Given the description of an element on the screen output the (x, y) to click on. 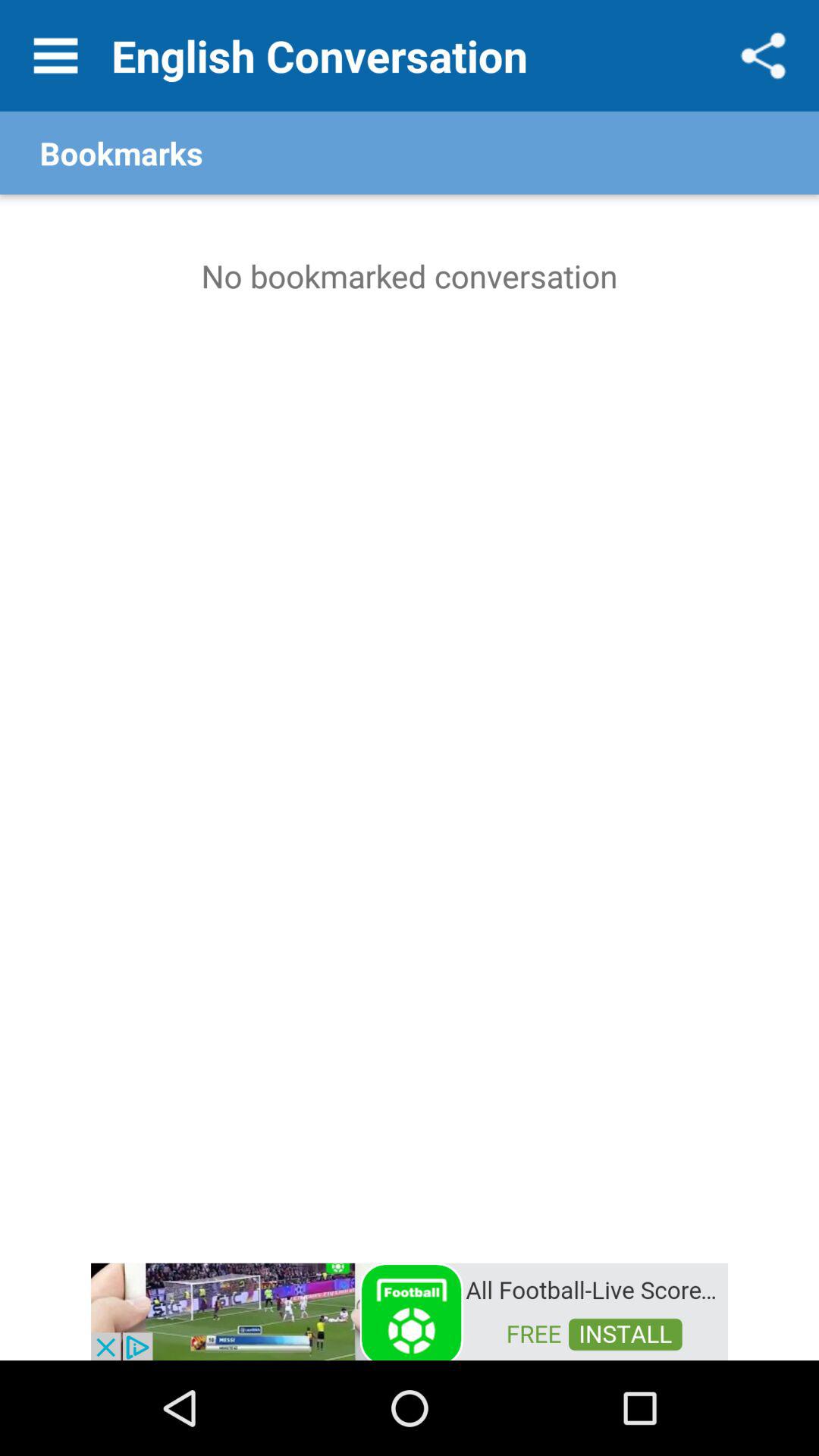
add banner (409, 1310)
